Given the description of an element on the screen output the (x, y) to click on. 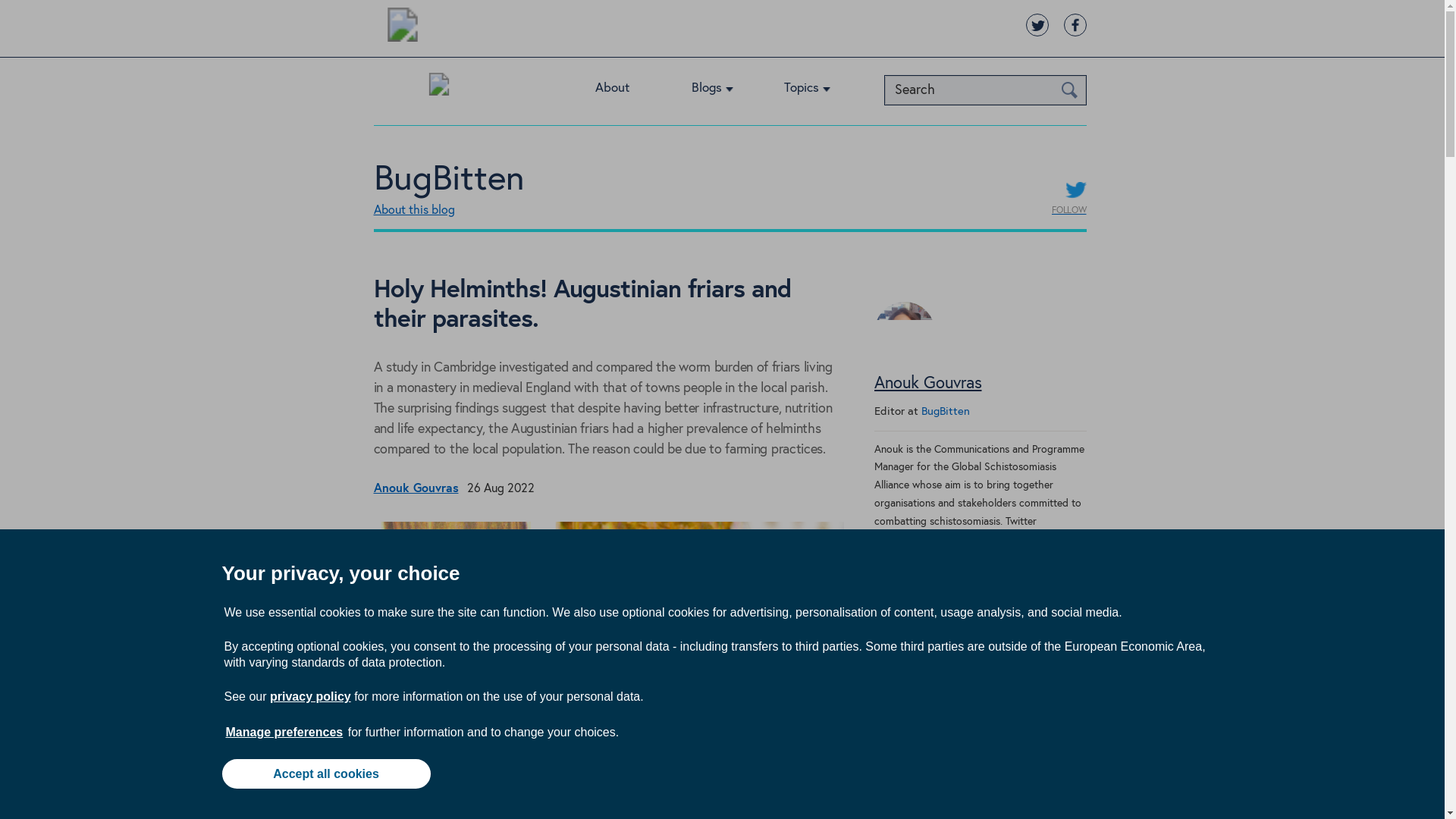
privacy policy (309, 696)
Topics (818, 91)
Blogs (724, 91)
Anouk Gouvras (903, 368)
Manage preferences (284, 732)
BioMed Central on Facebook (1074, 24)
Twitter (884, 812)
BioMed Central on Facebook (1074, 24)
BioMed Central on Twitter (1036, 24)
Visit BioMed Central (401, 28)
Accept all cookies (325, 773)
BioMed Central on Twitter (1036, 24)
About (629, 91)
Visit Blog Network home (437, 87)
